Given the description of an element on the screen output the (x, y) to click on. 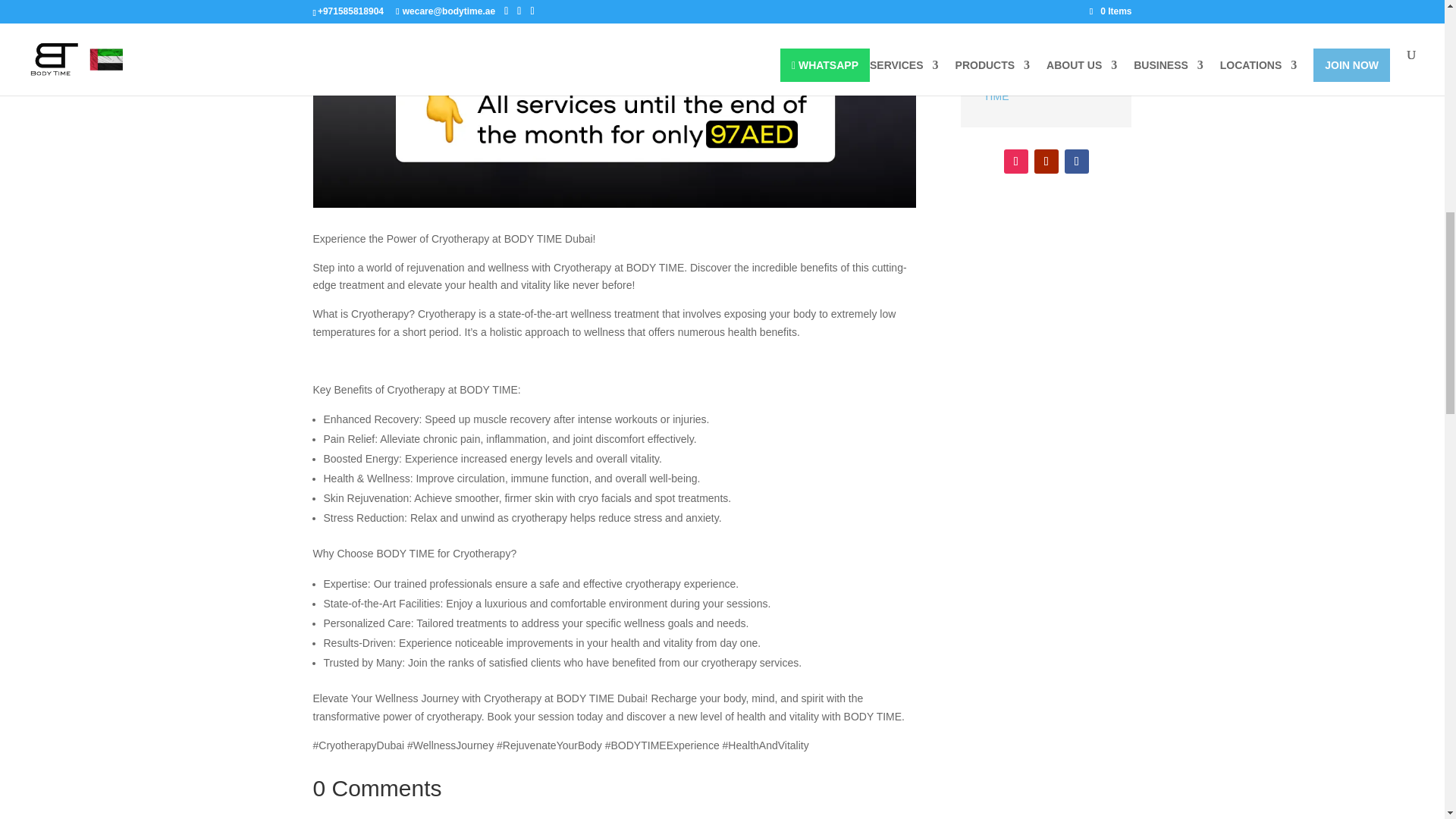
Follow on Facebook (1076, 161)
Cryo In Dubai (614, 104)
Follow on Youtube (1045, 161)
Follow on Instagram (1015, 161)
